Given the description of an element on the screen output the (x, y) to click on. 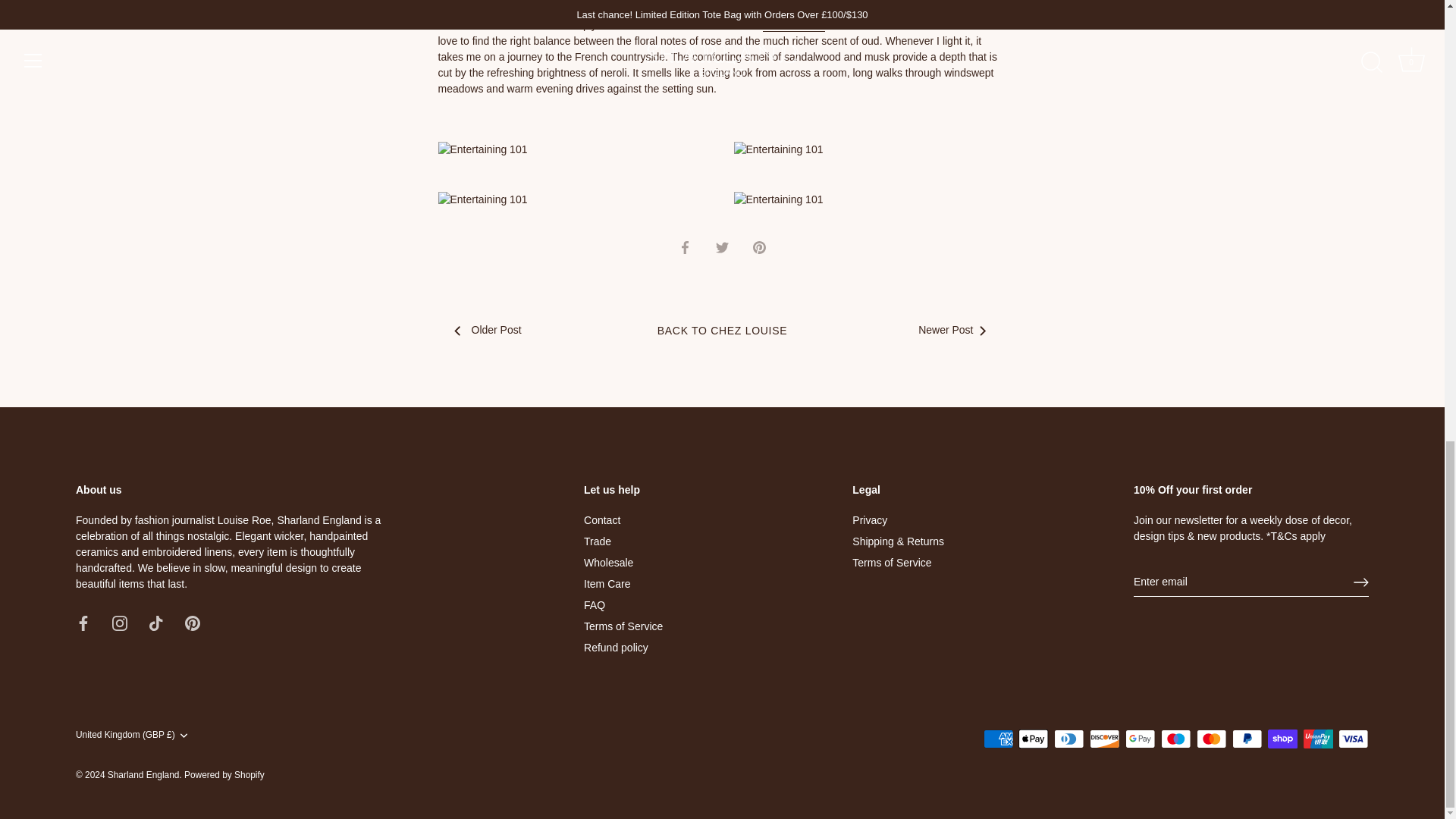
Apple Pay (1032, 738)
Diners Club (1069, 738)
Mastercard (1210, 738)
American Express (998, 738)
Privacy Policy (1297, 535)
Pinterest (192, 622)
Maestro (1175, 738)
Instagram (120, 622)
PayPal (1246, 738)
Google Pay (1140, 738)
